Given the description of an element on the screen output the (x, y) to click on. 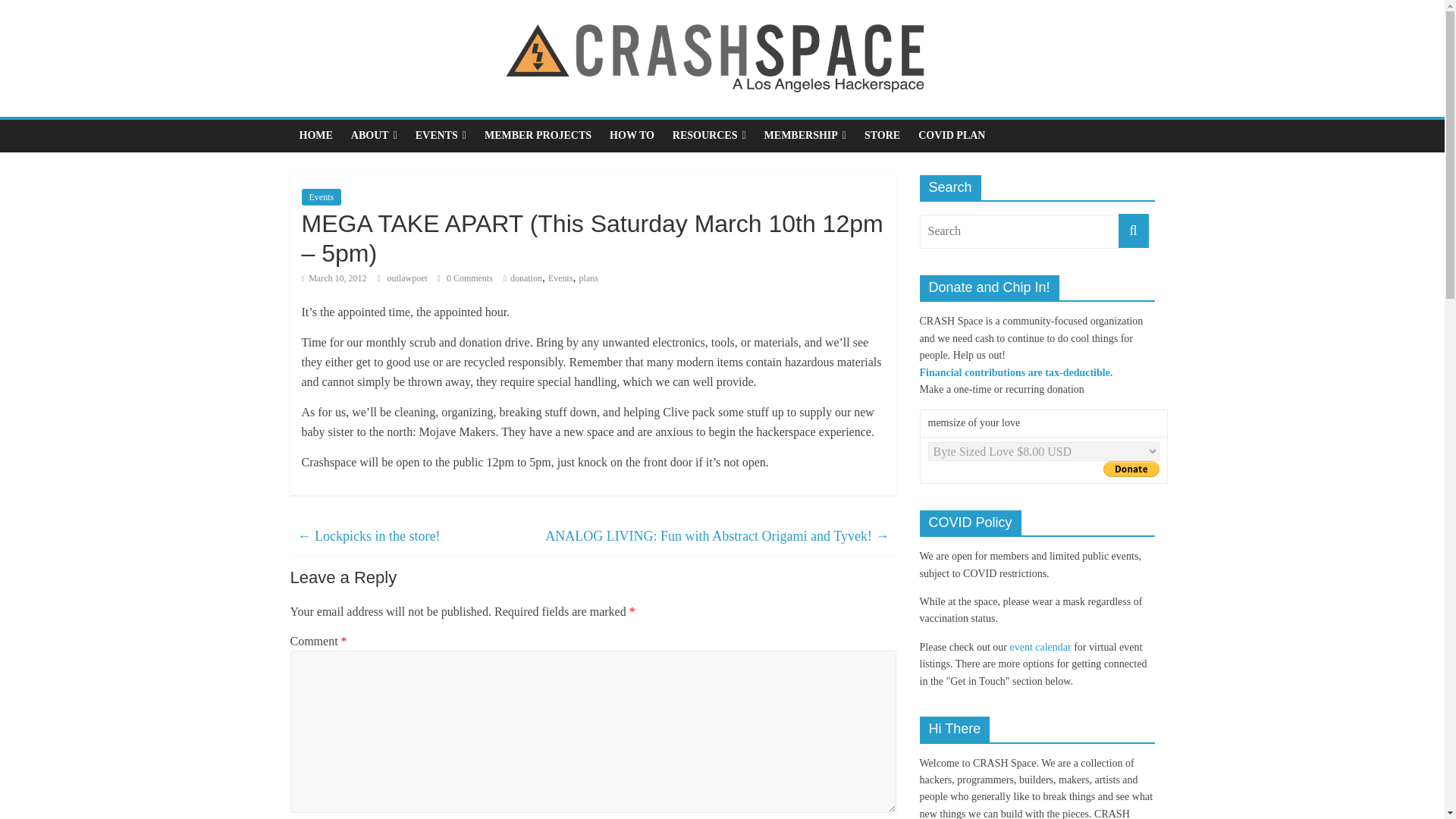
outlawpoet (408, 277)
MEMBER PROJECTS (537, 135)
HOW TO (631, 135)
STORE (882, 135)
COVID PLAN (951, 135)
1:38 am (333, 277)
ABOUT (374, 135)
outlawpoet (408, 277)
EVENTS (441, 135)
RESOURCES (709, 135)
March 10, 2012 (333, 277)
Events (321, 197)
HOME (314, 135)
MEMBERSHIP (805, 135)
